Given the description of an element on the screen output the (x, y) to click on. 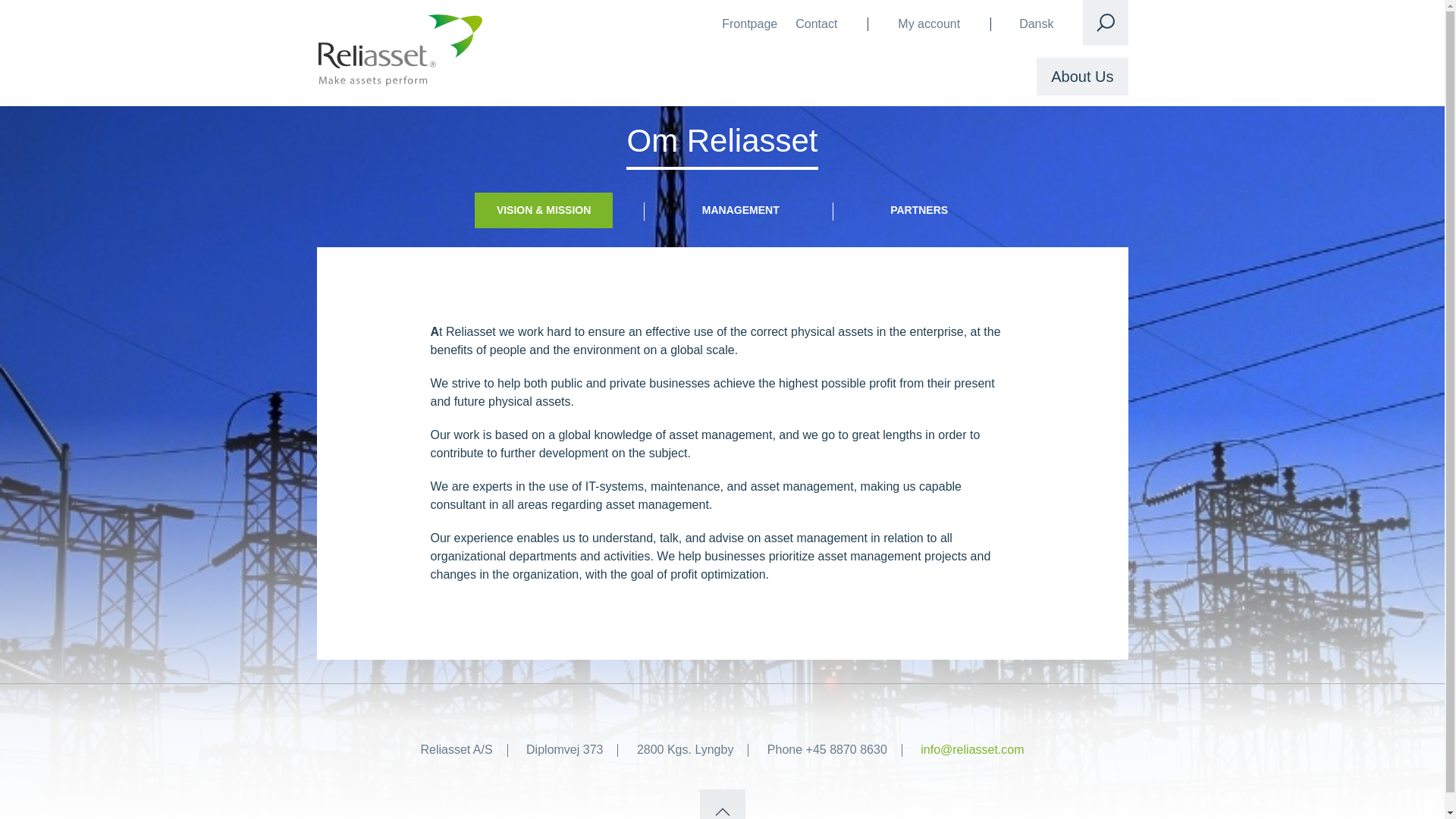
PARTNERS (918, 210)
Contact (815, 23)
MANAGEMENT (740, 210)
About Us (1081, 76)
Frontpage (749, 23)
My account (928, 23)
Dansk (1036, 23)
